Given the description of an element on the screen output the (x, y) to click on. 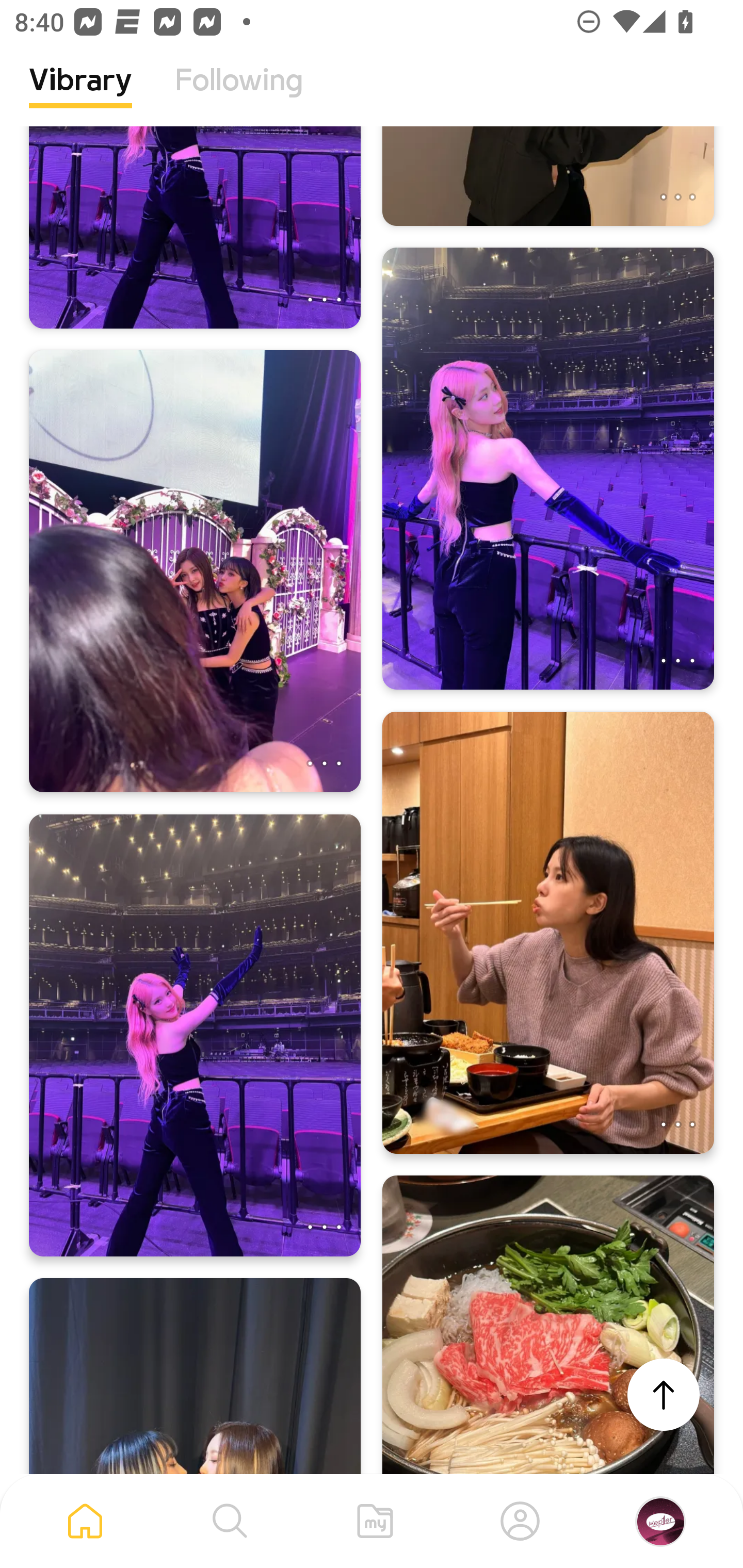
Vibrary (80, 95)
Following (239, 95)
